Given the description of an element on the screen output the (x, y) to click on. 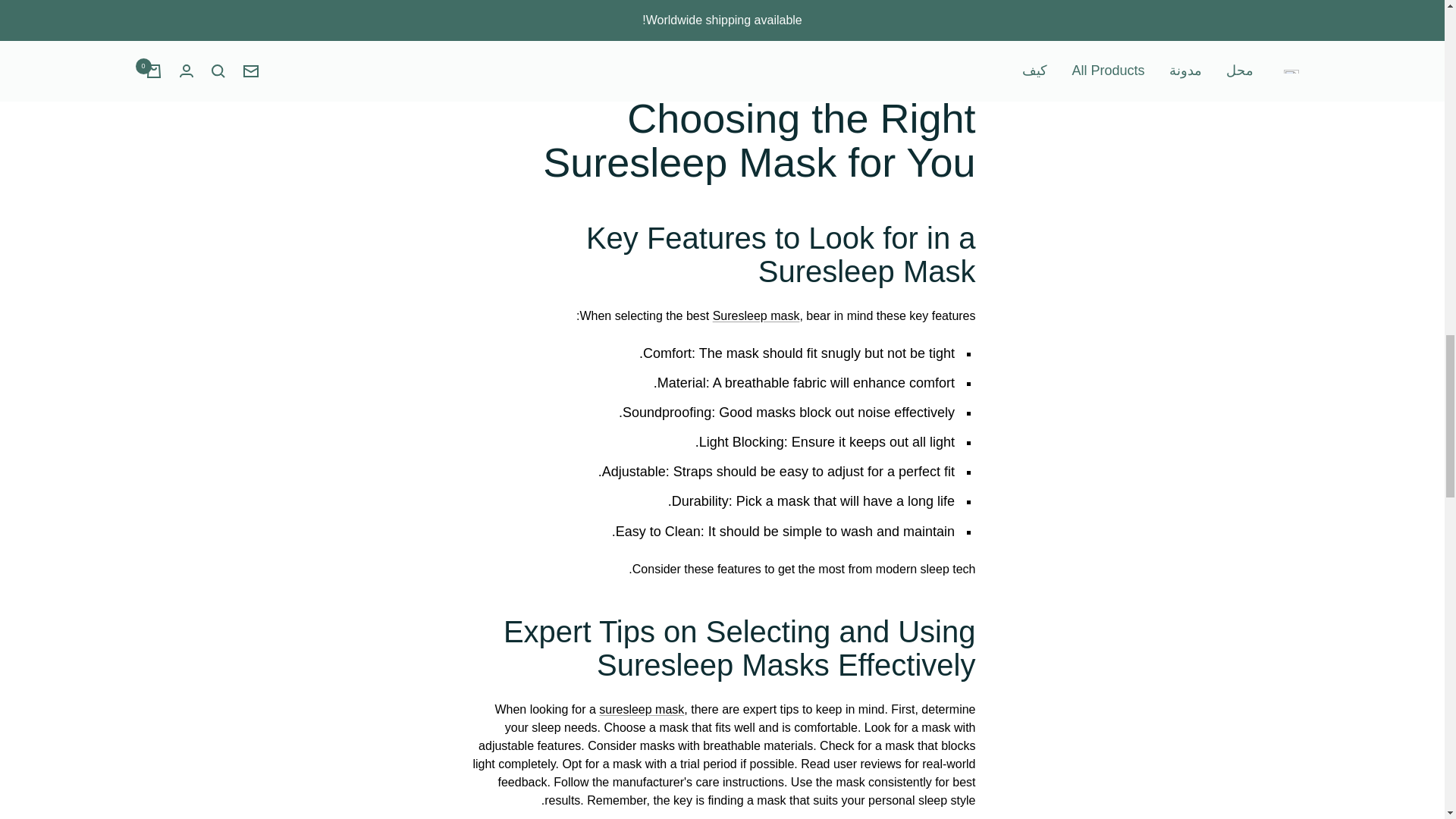
suresleep mask (641, 708)
Suresleep masks (906, 6)
Suresleep mask (756, 315)
